Given the description of an element on the screen output the (x, y) to click on. 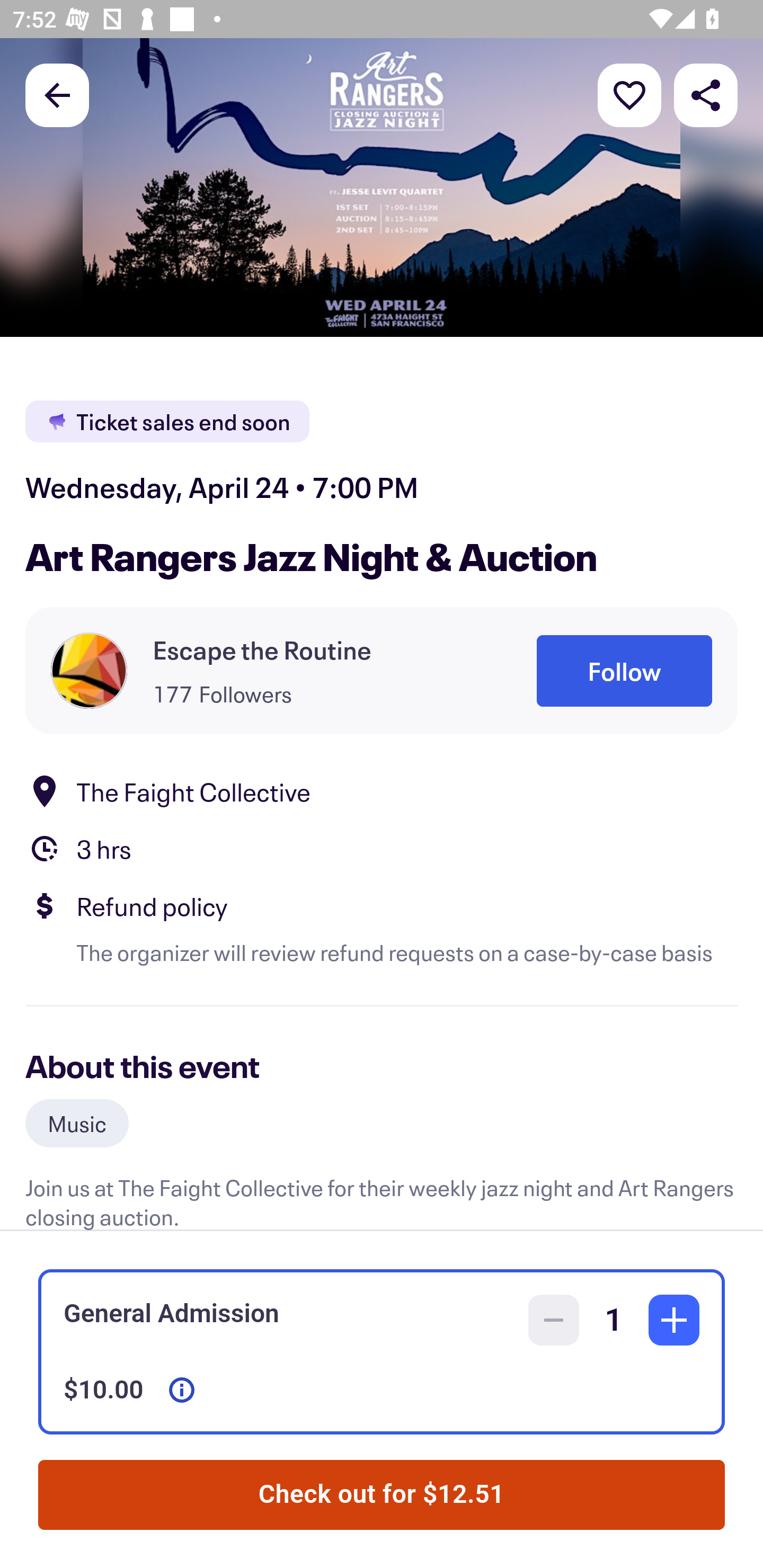
Back (57, 94)
More (629, 94)
Share (705, 94)
Escape the Routine (262, 649)
Organizer profile picture (89, 669)
Follow (623, 670)
Location The Faight Collective (381, 790)
